Given the description of an element on the screen output the (x, y) to click on. 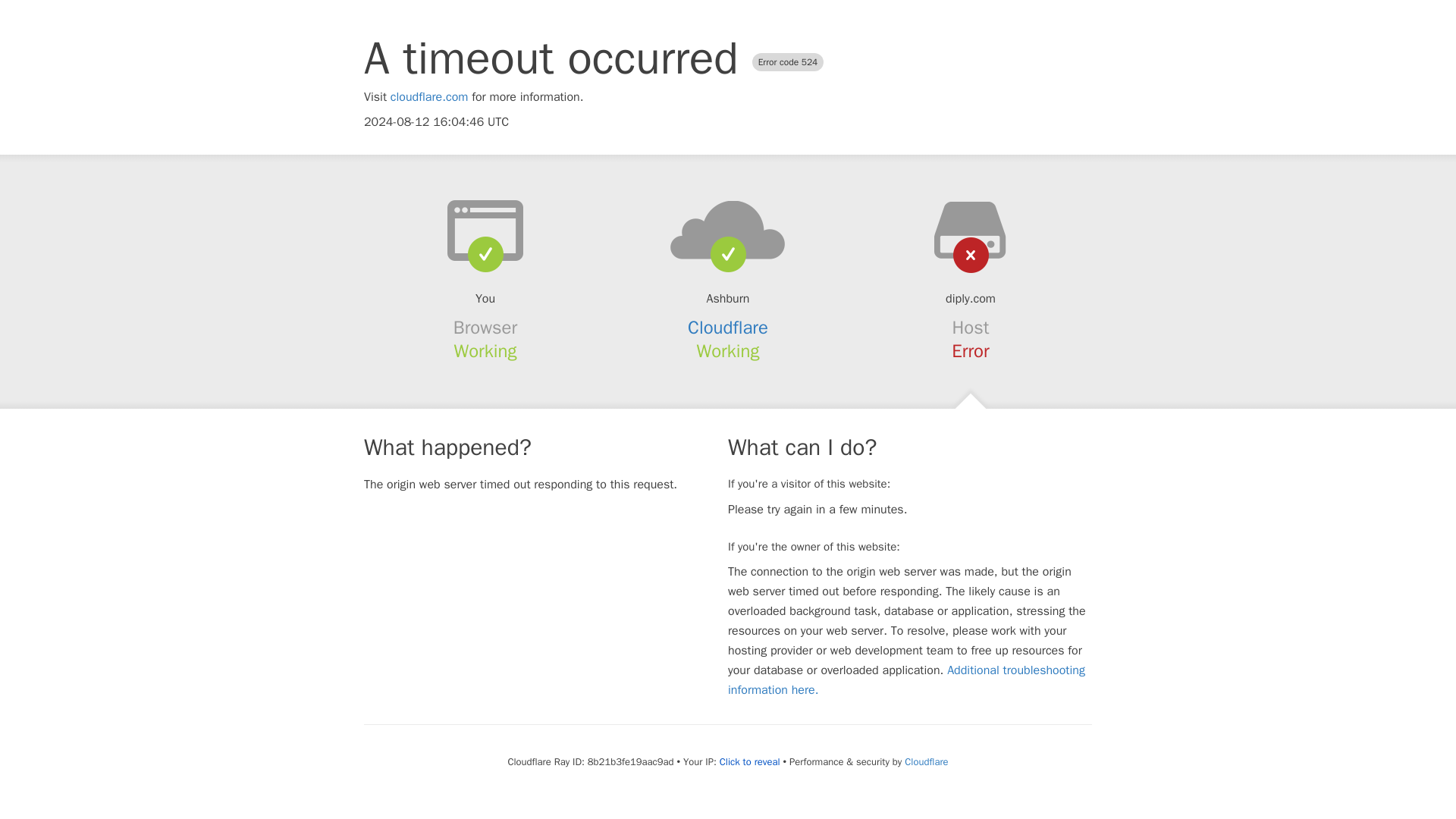
Additional troubleshooting information here. (906, 679)
Cloudflare (727, 327)
Click to reveal (749, 762)
Cloudflare (925, 761)
cloudflare.com (429, 96)
